Given the description of an element on the screen output the (x, y) to click on. 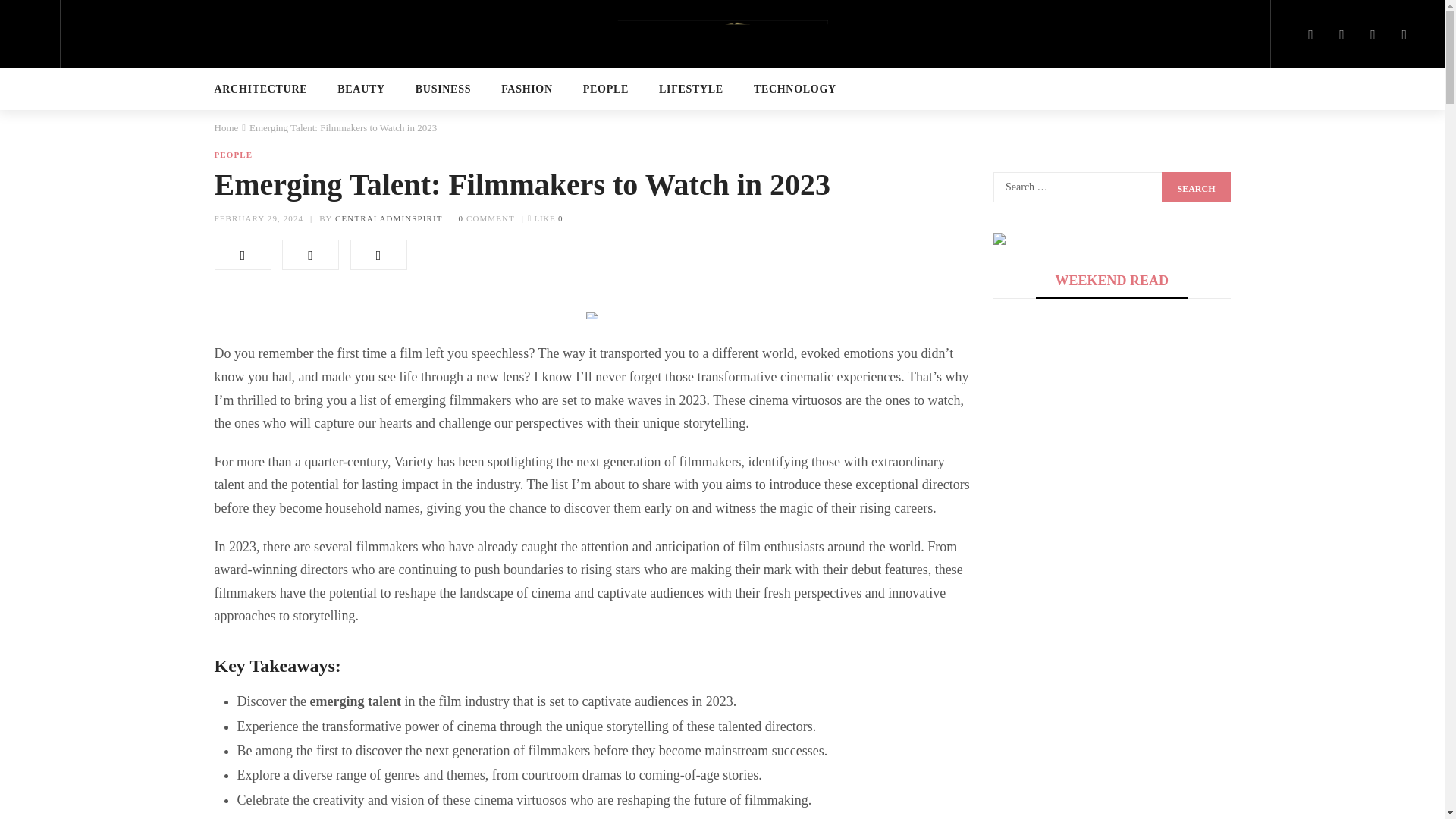
LIFESTYLE (691, 89)
FASHION (526, 89)
twitter (310, 254)
Emerging Talent: Filmmakers to Watch in 2023 (258, 217)
FEBRUARY 29, 2024 (258, 217)
Home (226, 127)
BEAUTY (361, 89)
BUSINESS (442, 89)
TECHNOLOGY (794, 89)
ARCHITECTURE (260, 89)
